Given the description of an element on the screen output the (x, y) to click on. 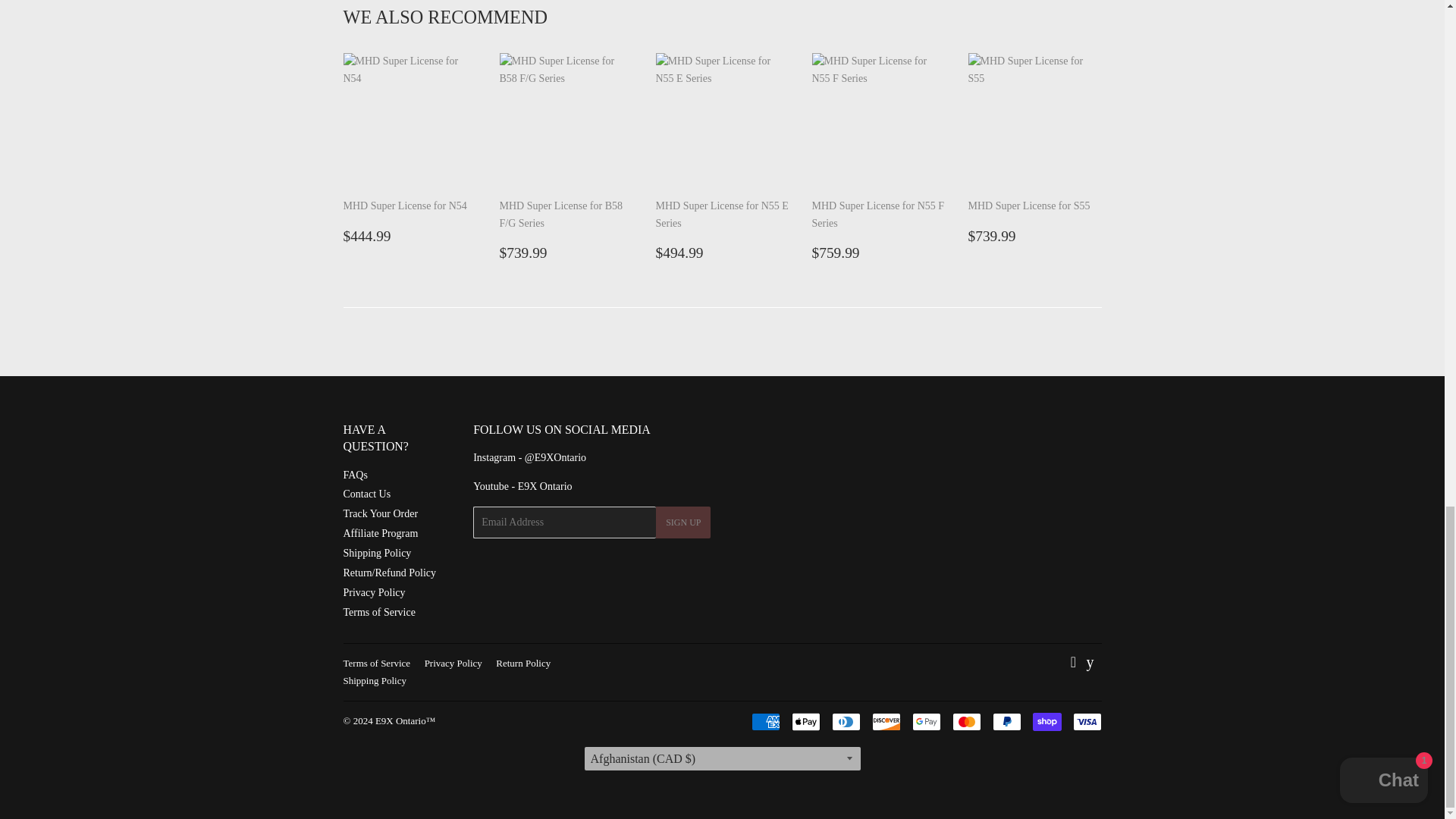
American Express (764, 721)
Visa (1085, 721)
Shop Pay (1046, 721)
Diners Club (845, 721)
Google Pay (925, 721)
Mastercard (966, 721)
Discover (886, 721)
PayPal (1005, 721)
Apple Pay (806, 721)
